Given the description of an element on the screen output the (x, y) to click on. 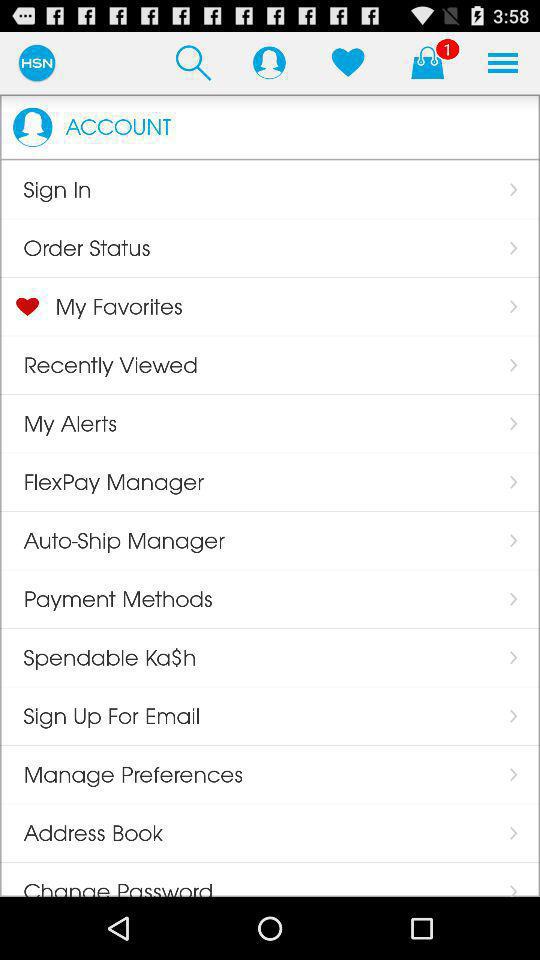
tap icon above the recently viewed app (106, 306)
